Given the description of an element on the screen output the (x, y) to click on. 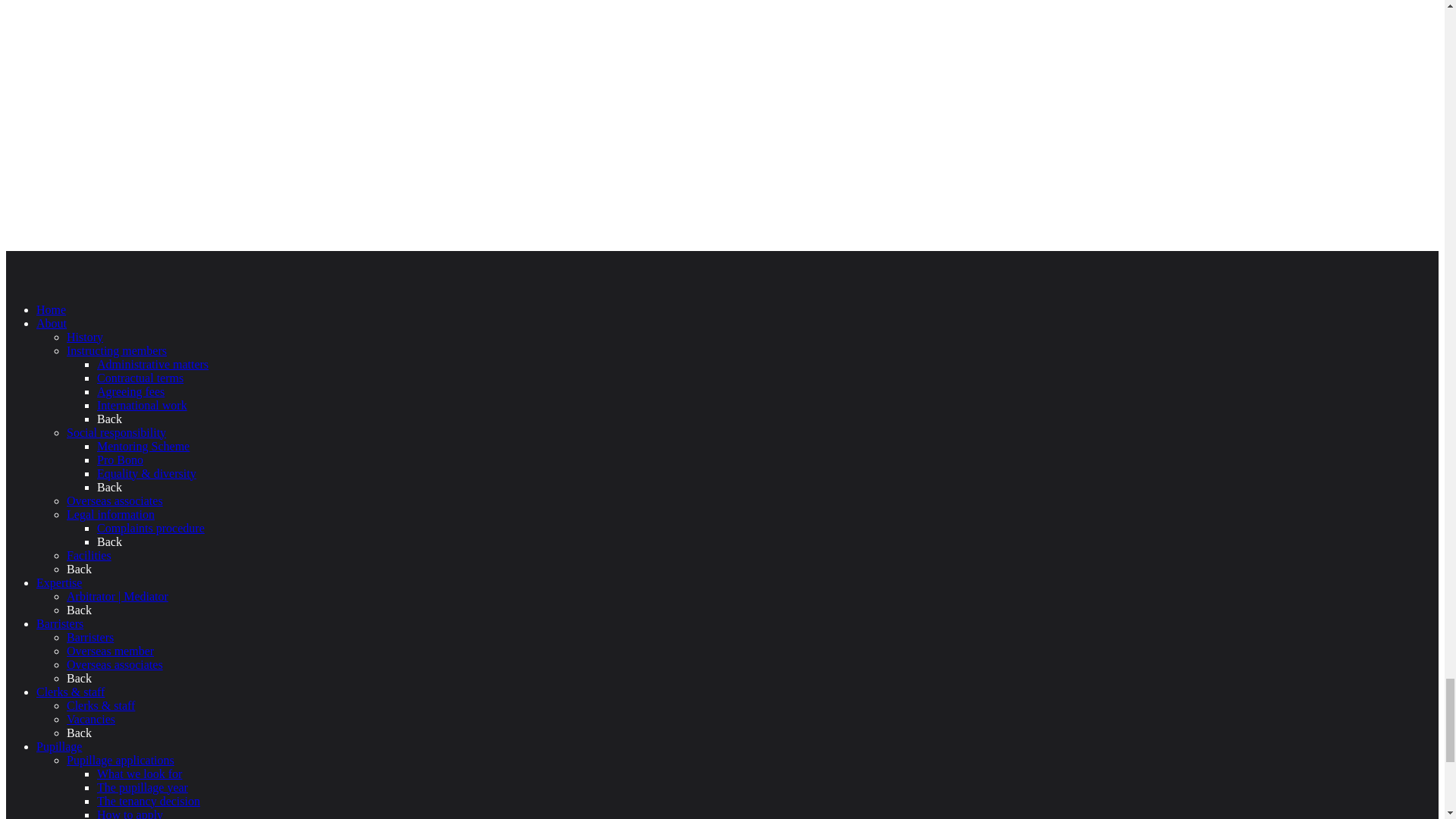
Chambers UK Bar 2023 winner (118, 243)
Living Wage Employer (118, 188)
Advocate Pro Bono Patron: Gold Circle 2024 (118, 6)
